Given the description of an element on the screen output the (x, y) to click on. 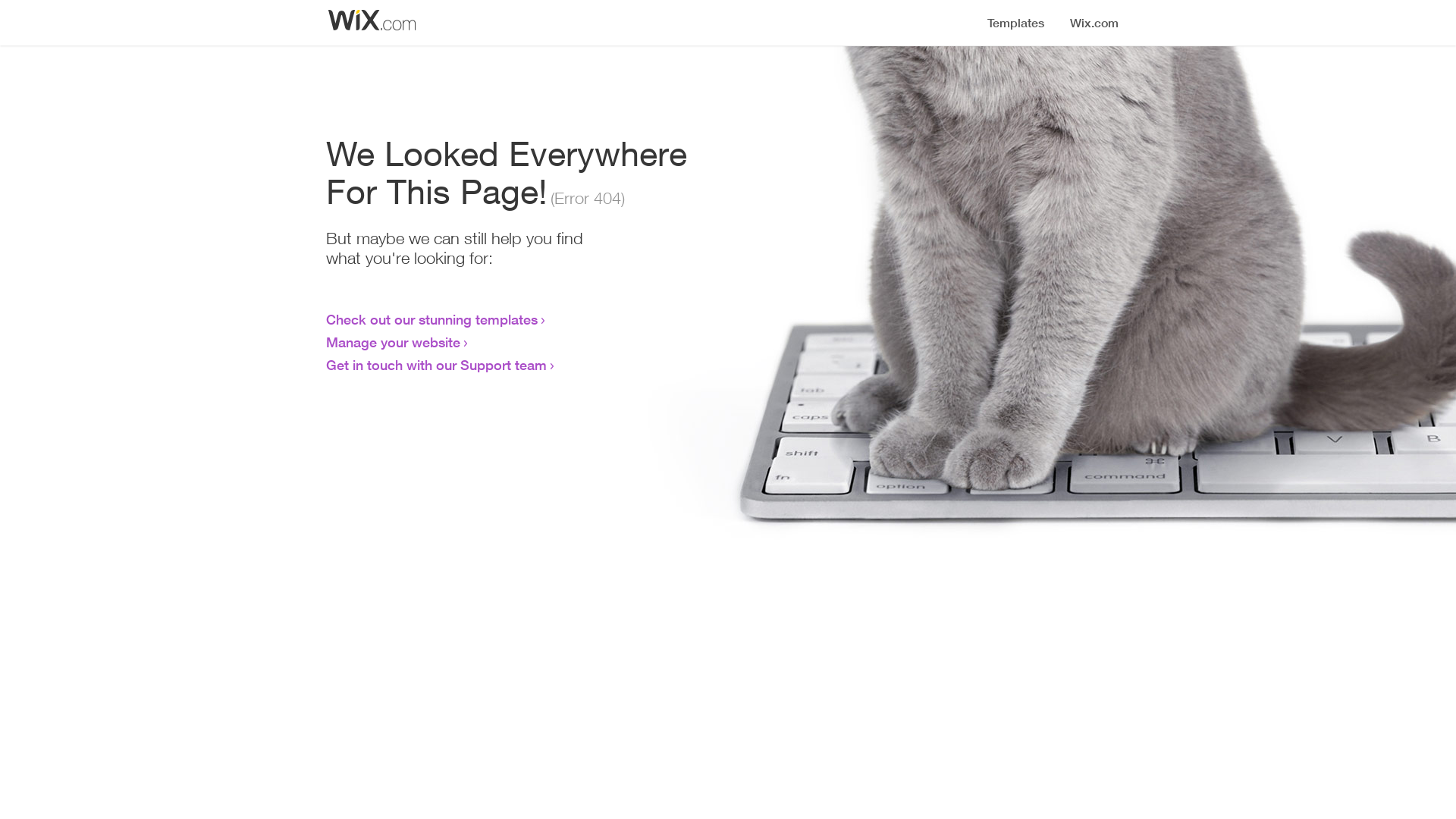
Manage your website Element type: text (393, 341)
Get in touch with our Support team Element type: text (436, 364)
Check out our stunning templates Element type: text (431, 318)
